Given the description of an element on the screen output the (x, y) to click on. 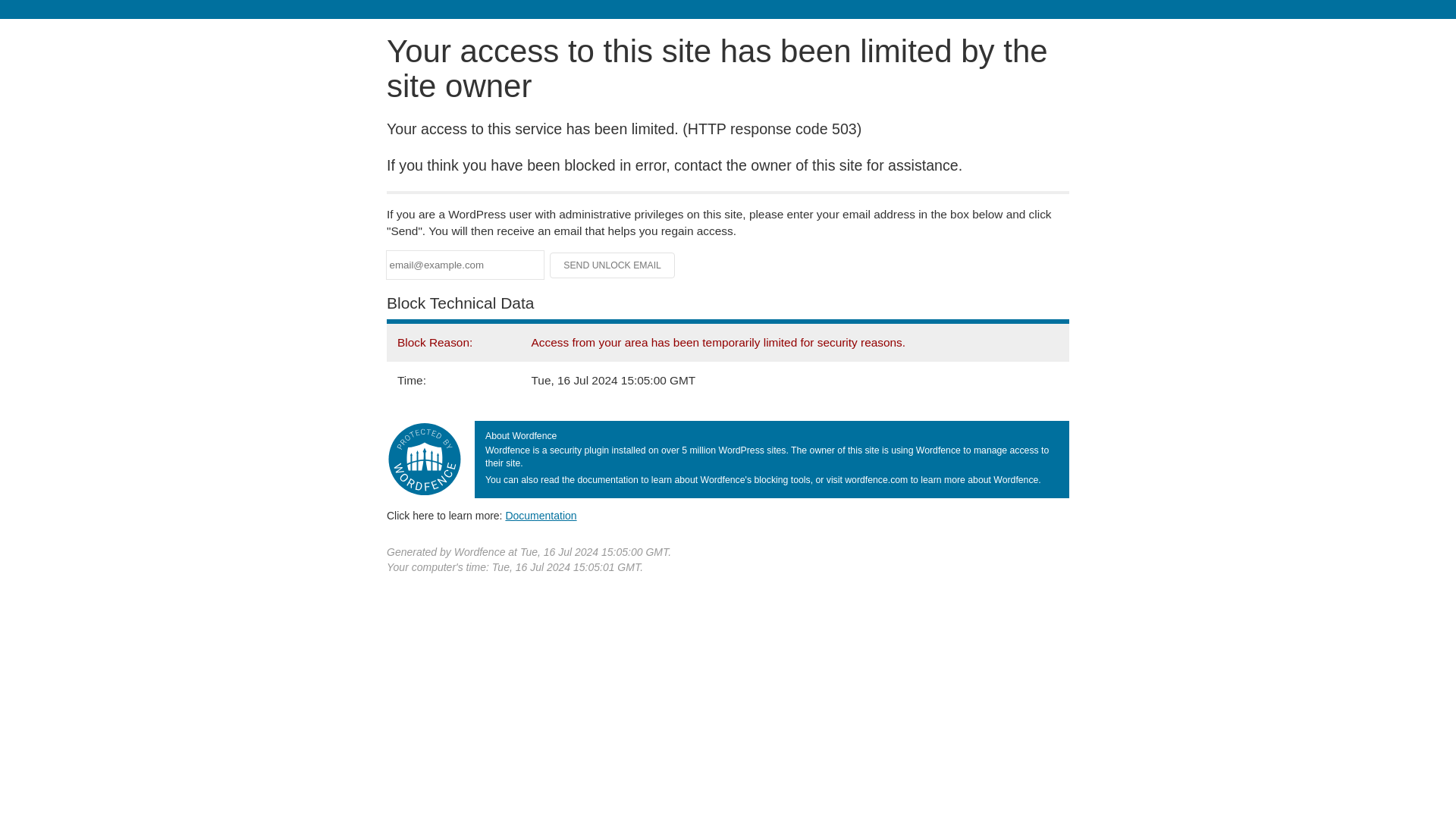
Send Unlock Email (612, 265)
Send Unlock Email (612, 265)
Documentation (540, 515)
